Given the description of an element on the screen output the (x, y) to click on. 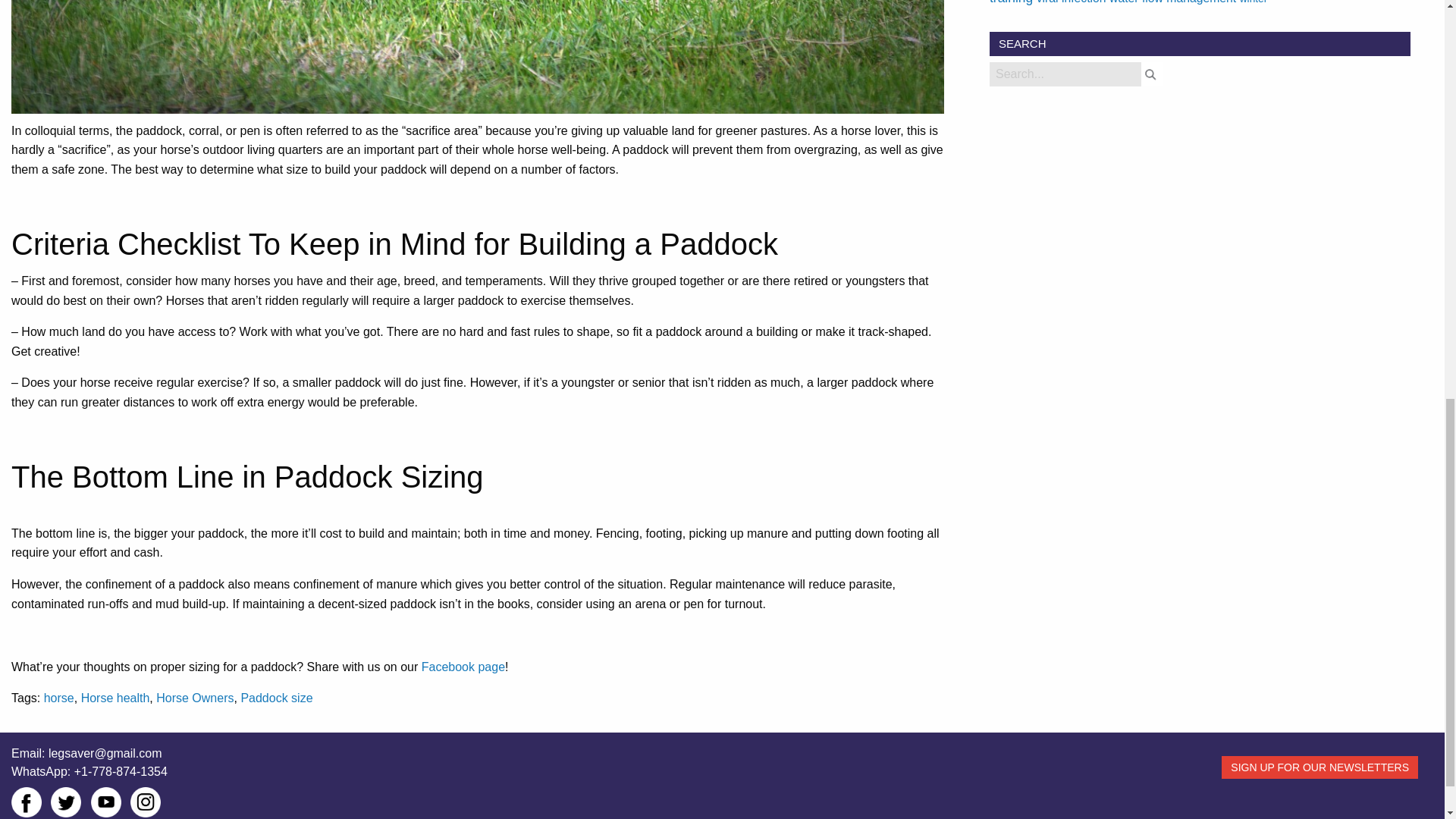
horse (58, 697)
Horse Owners (193, 697)
Twitter (65, 802)
Instagram (145, 802)
Facebook (26, 802)
Facebook page (463, 666)
Horse health (115, 697)
Search for: (1065, 74)
Paddock size (276, 697)
YouTube (105, 802)
